Given the description of an element on the screen output the (x, y) to click on. 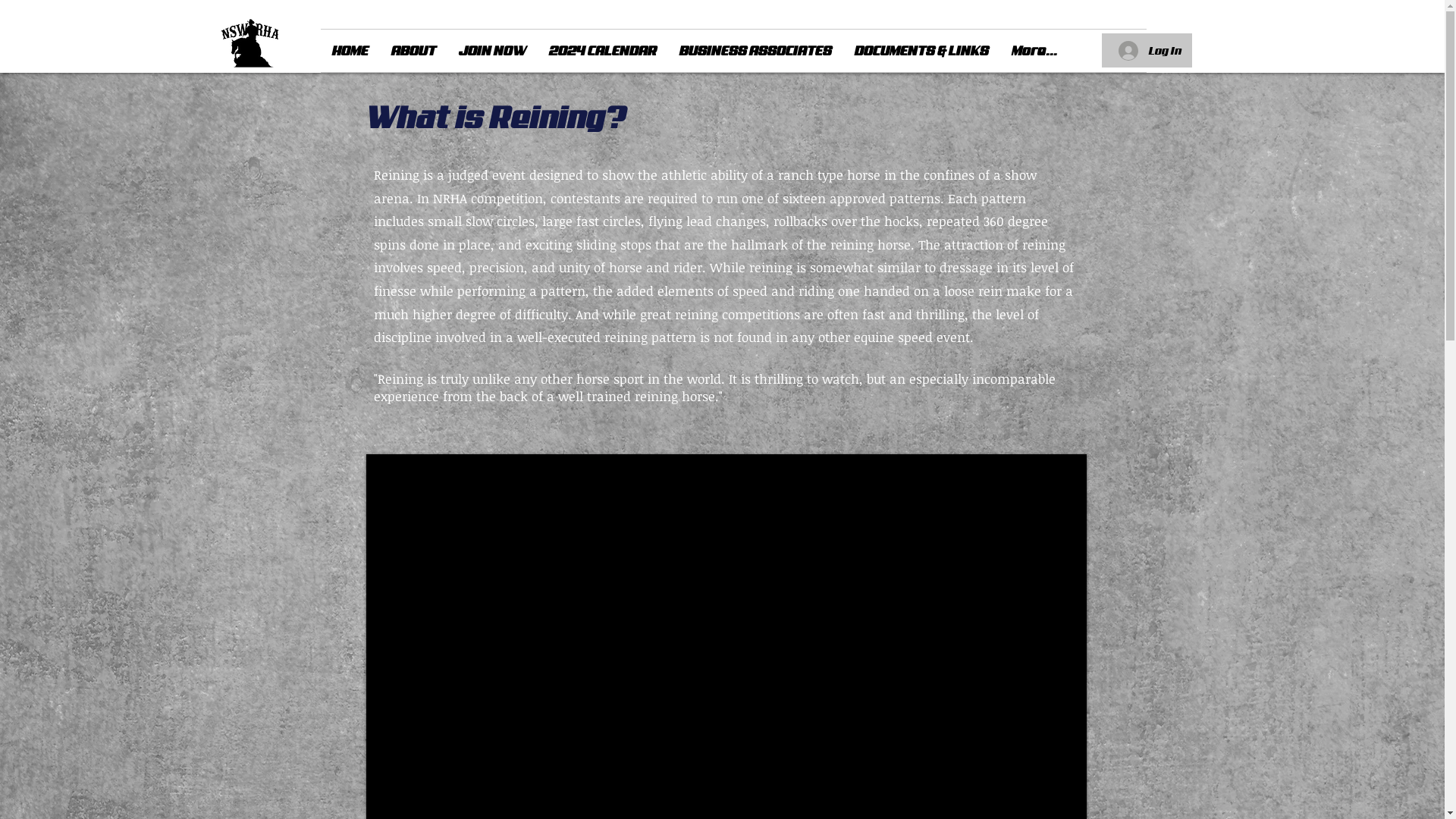
BUSINESS ASSOCIATES Element type: text (754, 50)
HOME Element type: text (349, 50)
Log In Element type: text (1149, 50)
2024 CALENDAR Element type: text (601, 50)
JOIN NOW Element type: text (492, 50)
DOCUMENTS & LINKS Element type: text (921, 50)
ABOUT Element type: text (412, 50)
